Given the description of an element on the screen output the (x, y) to click on. 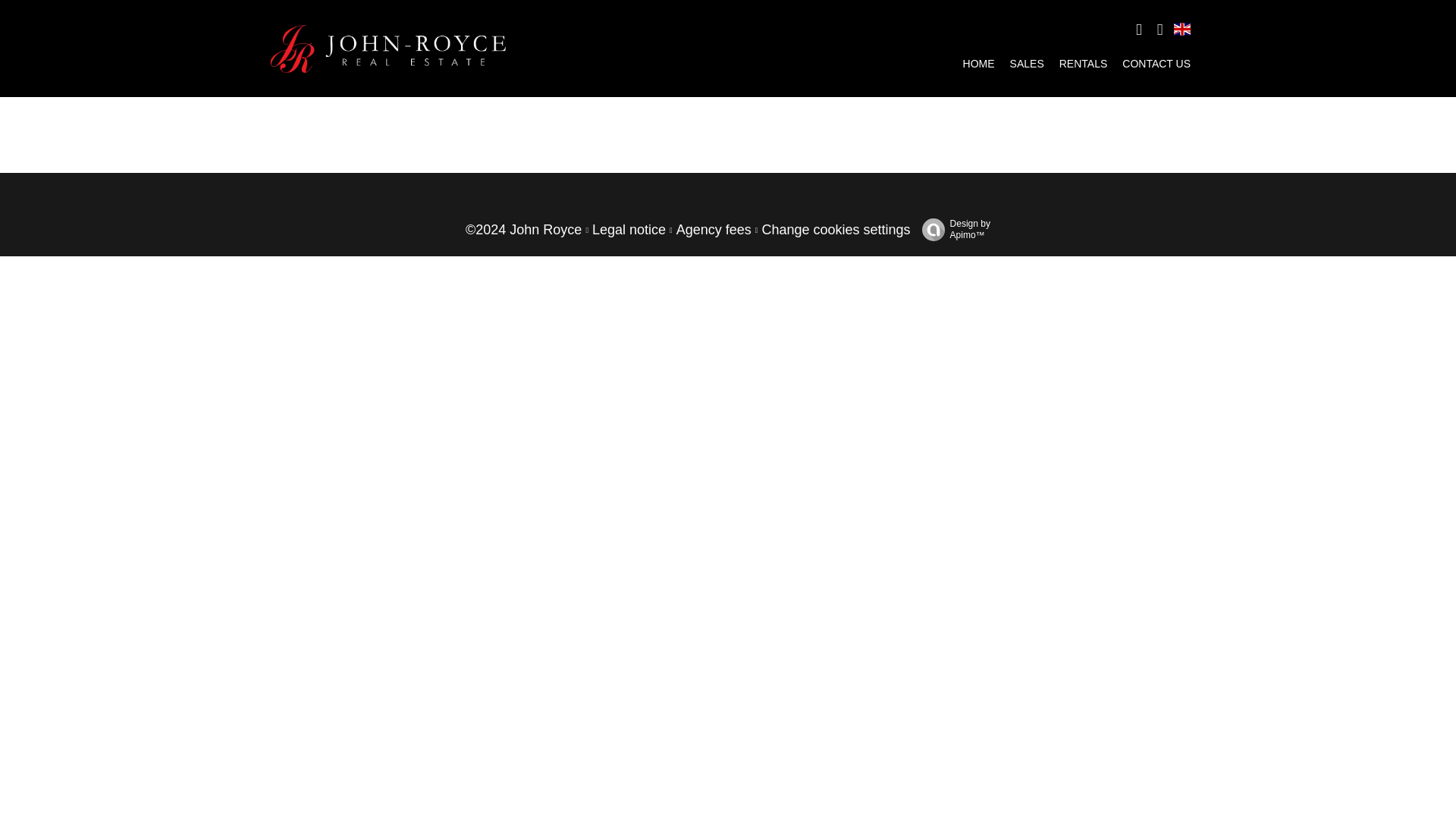
SALES (1026, 63)
HOME (978, 63)
RENTALS (1083, 63)
CONTACT US (1156, 63)
